Given the description of an element on the screen output the (x, y) to click on. 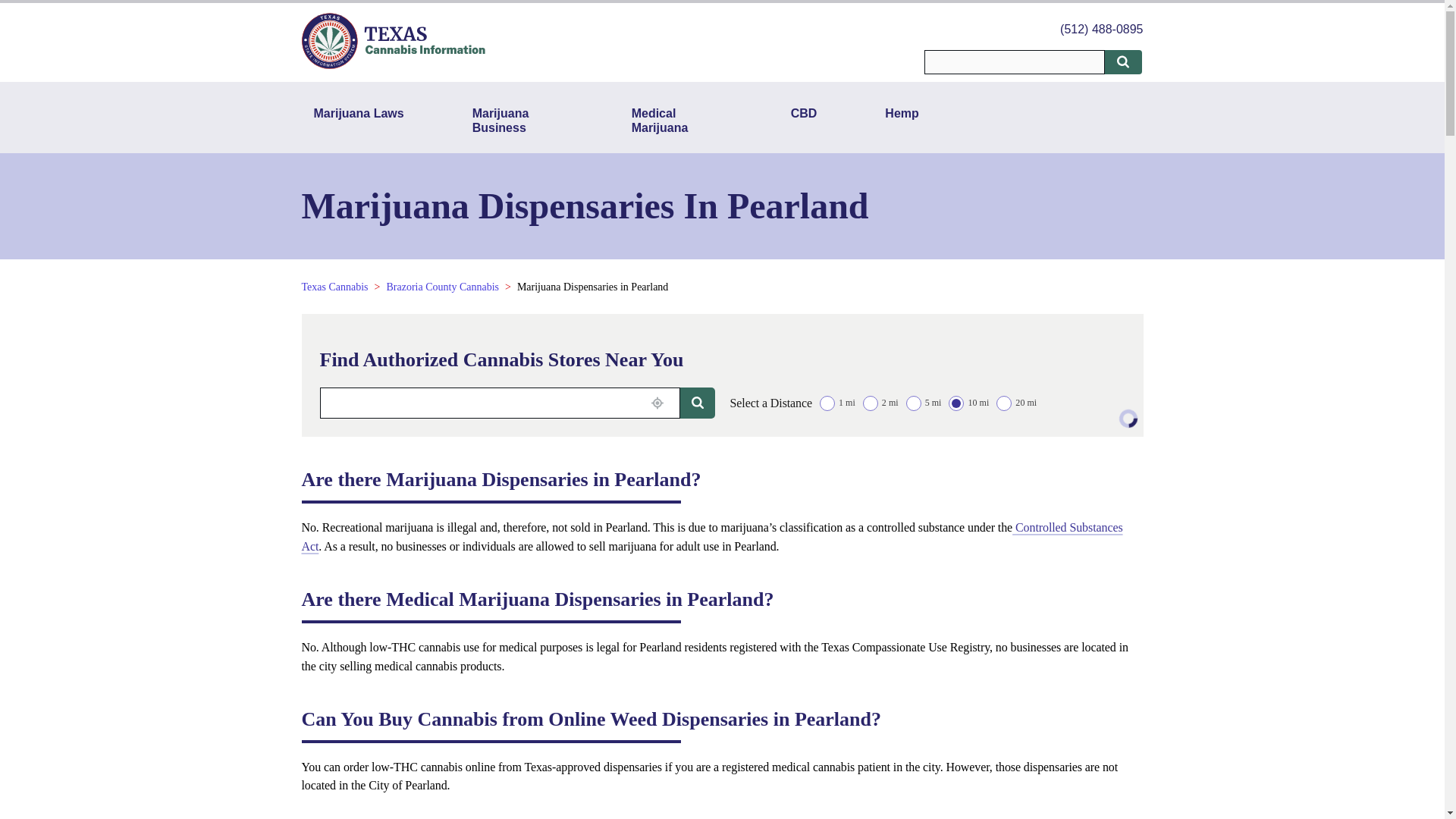
CBD (803, 119)
Hemp (901, 119)
Brazoria County Cannabis (442, 286)
Marijuana Laws (358, 119)
Texas Cannabis (334, 286)
Marijuana Business (517, 119)
Medical Marijuana (677, 119)
Controlled Substances Act (711, 536)
